Given the description of an element on the screen output the (x, y) to click on. 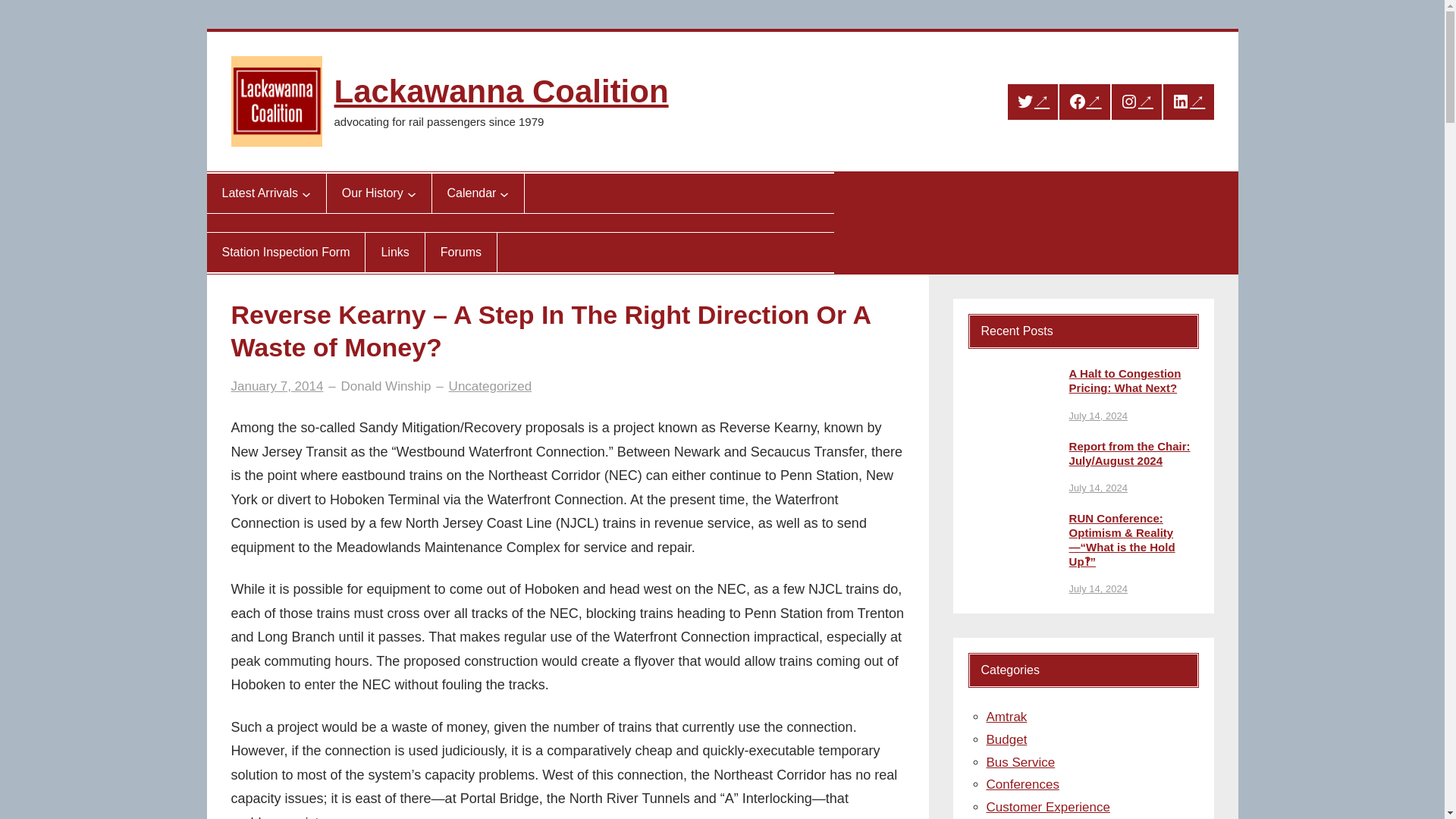
July 14, 2024 (1097, 487)
Lackawanna Coalition (500, 90)
Twitter (1032, 101)
January 7, 2014 (276, 386)
Station Inspection Form (285, 251)
Instagram (1136, 101)
Links (394, 251)
Our History (372, 192)
Latest Arrivals (258, 192)
Forums (460, 251)
LinkedIn (1187, 101)
July 14, 2024 (1097, 415)
Facebook (1084, 101)
A Halt to Congestion Pricing: What Next? (1133, 380)
Calendar (471, 192)
